Given the description of an element on the screen output the (x, y) to click on. 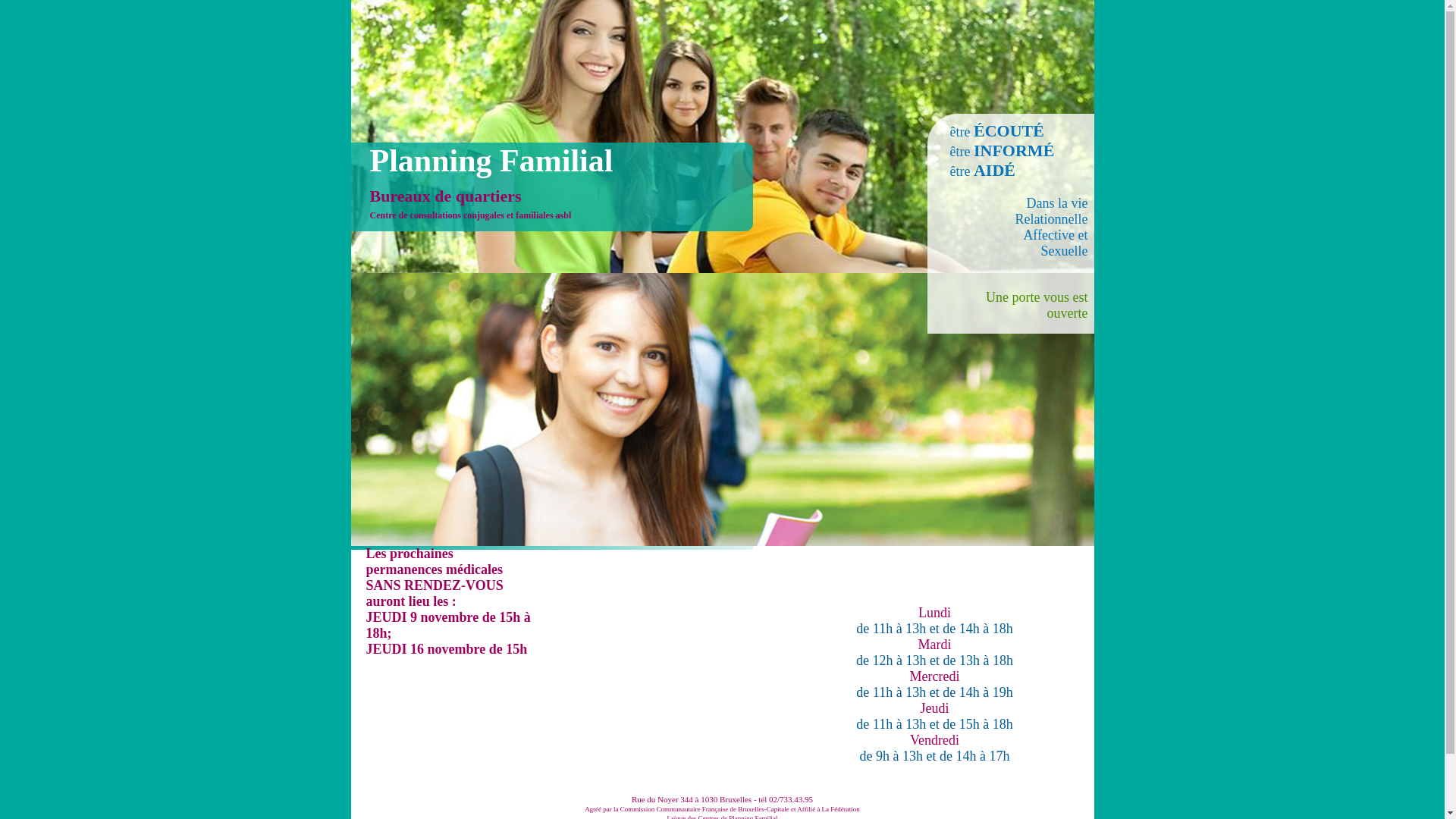
Lire la suite Element type: text (461, 665)
Contact Element type: text (750, 568)
Nos services Element type: text (521, 568)
Liens Element type: text (863, 568)
Nos missions Element type: text (405, 568)
